Given the description of an element on the screen output the (x, y) to click on. 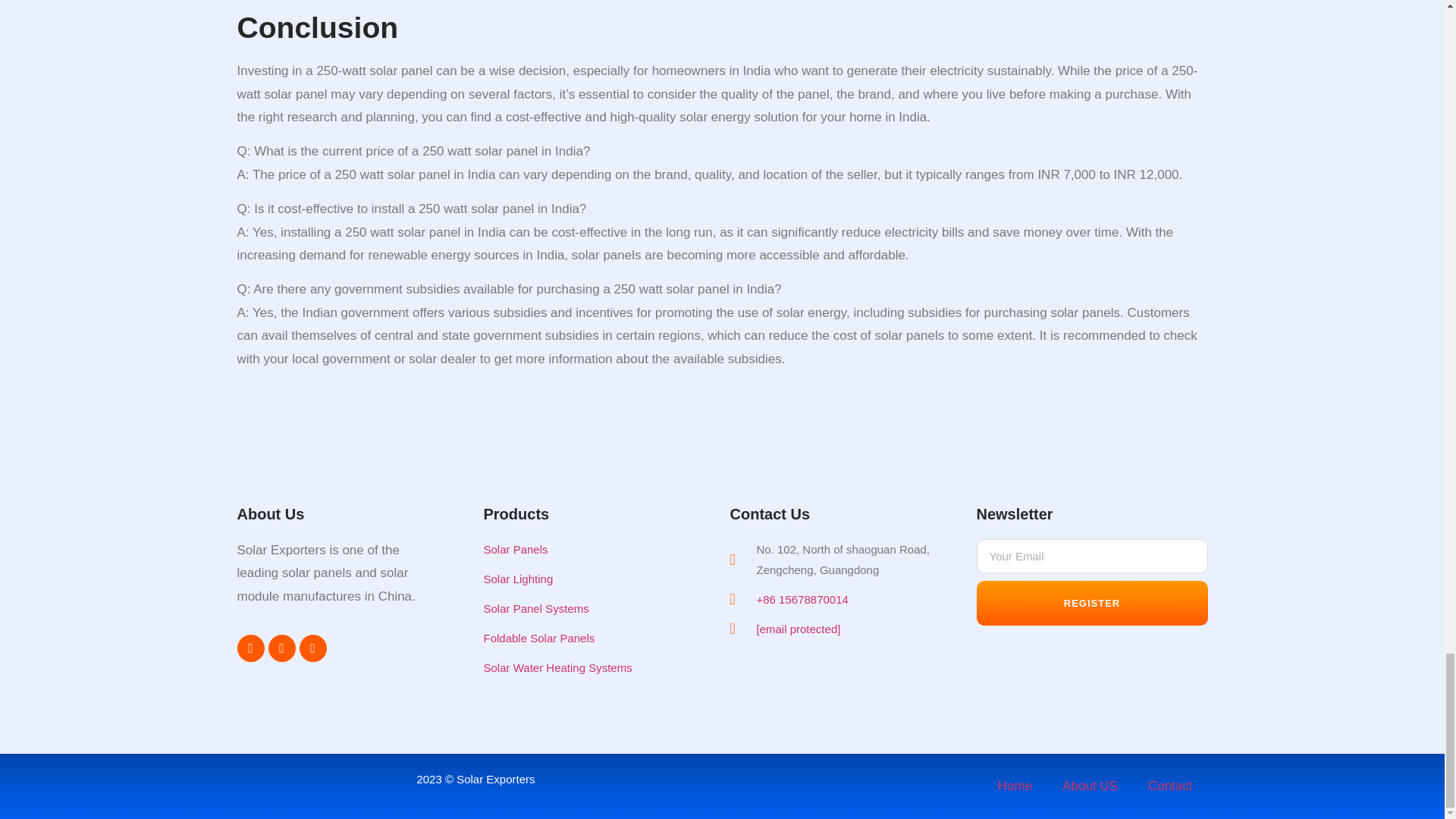
Solar Panel Systems (583, 608)
Foldable Solar Panels (583, 638)
Solar Lighting (583, 578)
Solar Water Heating Systems (583, 667)
Solar Panels (583, 548)
